Given the description of an element on the screen output the (x, y) to click on. 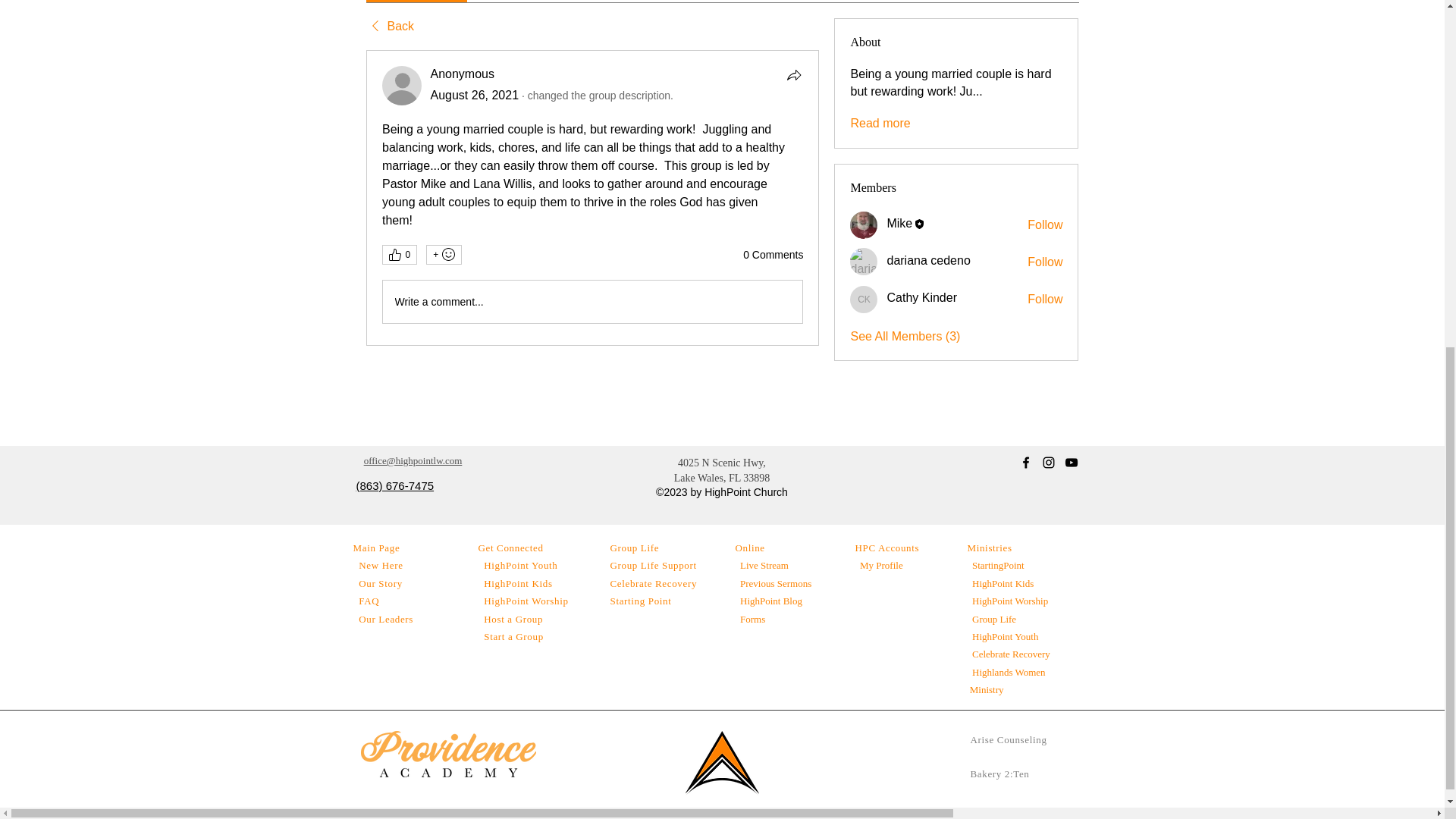
Read more (880, 123)
Cathy Kinder (863, 298)
Mike (863, 225)
dariana cedeno (863, 261)
dariana cedeno (927, 259)
Mike (899, 223)
Cathy Kinder (921, 297)
Mike (899, 223)
Cathy Kinder (921, 297)
Anonymous (462, 73)
